Given the description of an element on the screen output the (x, y) to click on. 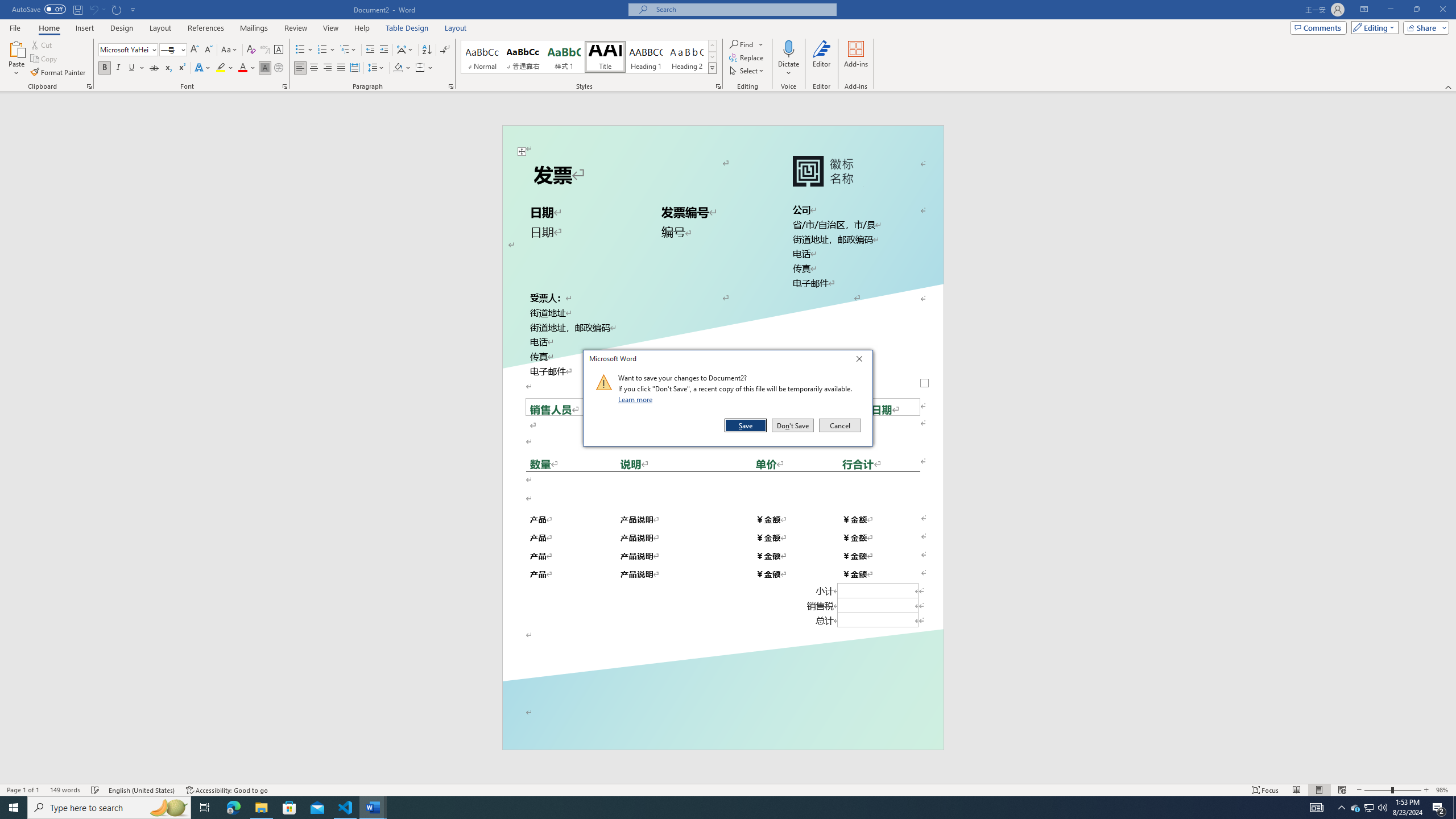
User Promoted Notification Area (1368, 807)
Dictate (788, 48)
Can't Undo (92, 9)
Learn more (636, 399)
Bold (104, 67)
Editor (821, 58)
Align Right (327, 67)
Underline (136, 67)
Borders (424, 67)
Bullets (300, 49)
References (205, 28)
Layout (455, 28)
Microsoft Store (289, 807)
